Given the description of an element on the screen output the (x, y) to click on. 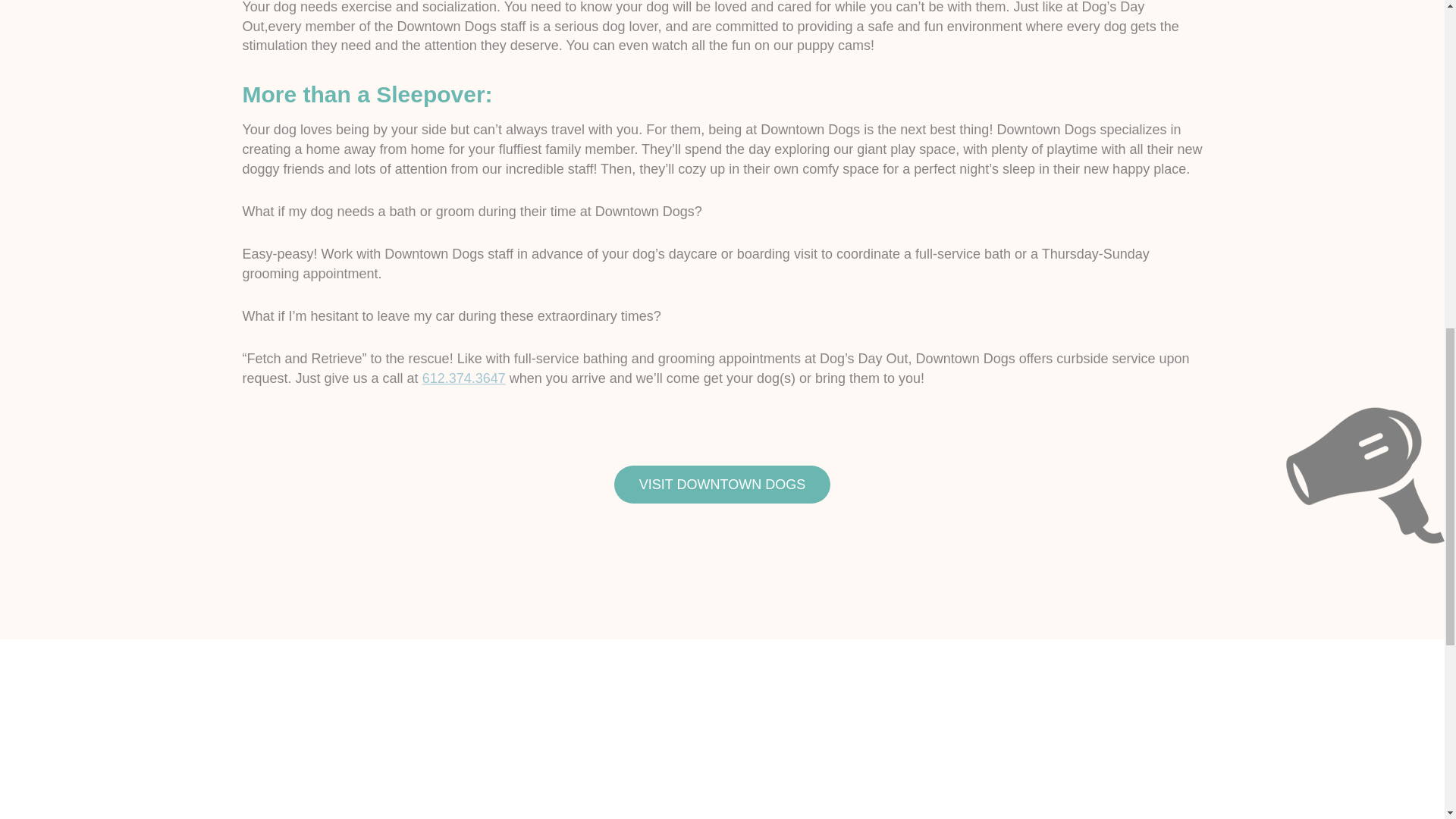
612.374.3647 (463, 378)
VISIT DOWNTOWN DOGS (721, 484)
